Given the description of an element on the screen output the (x, y) to click on. 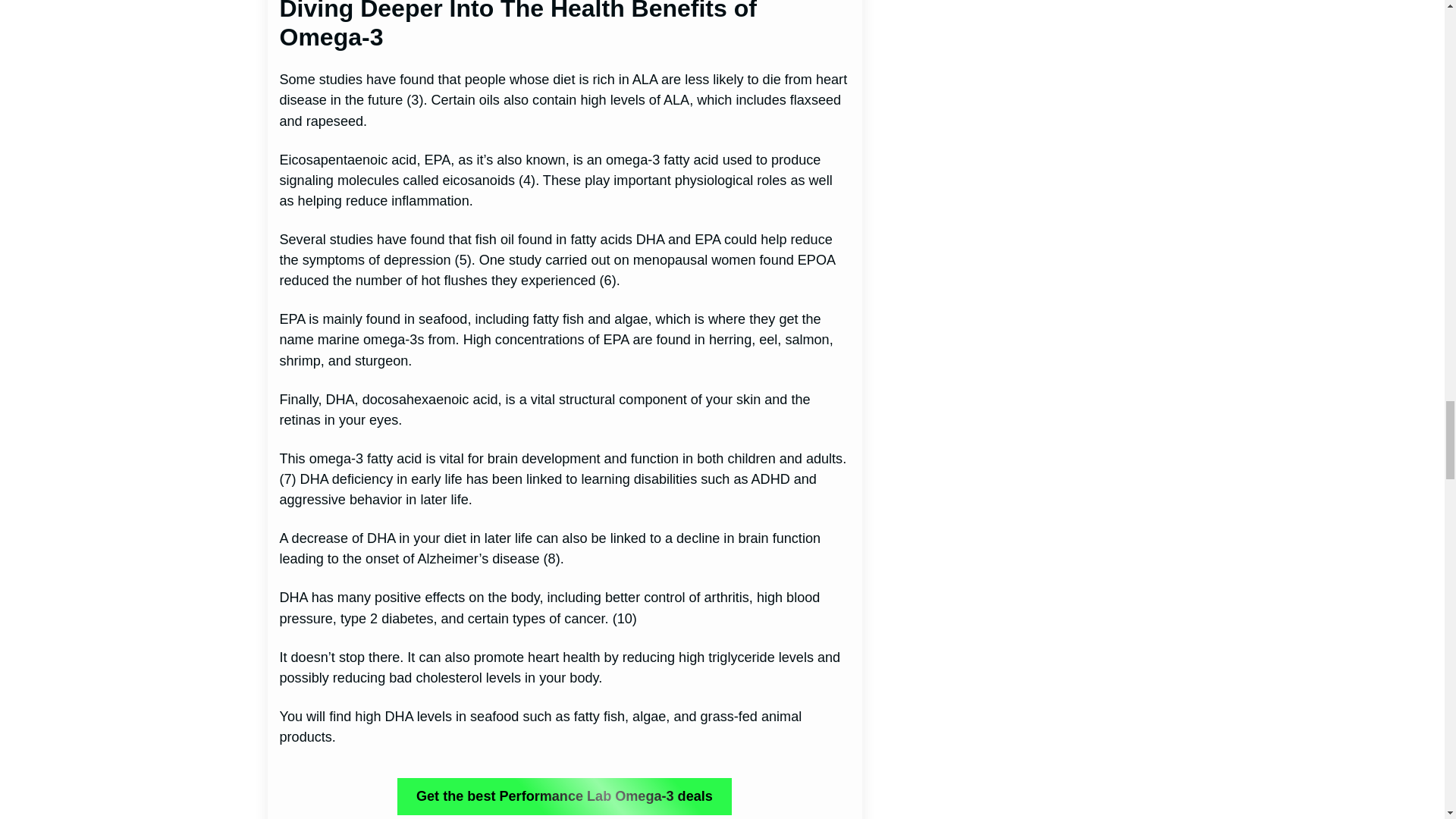
Get the best Performance Lab Omega-3 deals (564, 796)
